Given the description of an element on the screen output the (x, y) to click on. 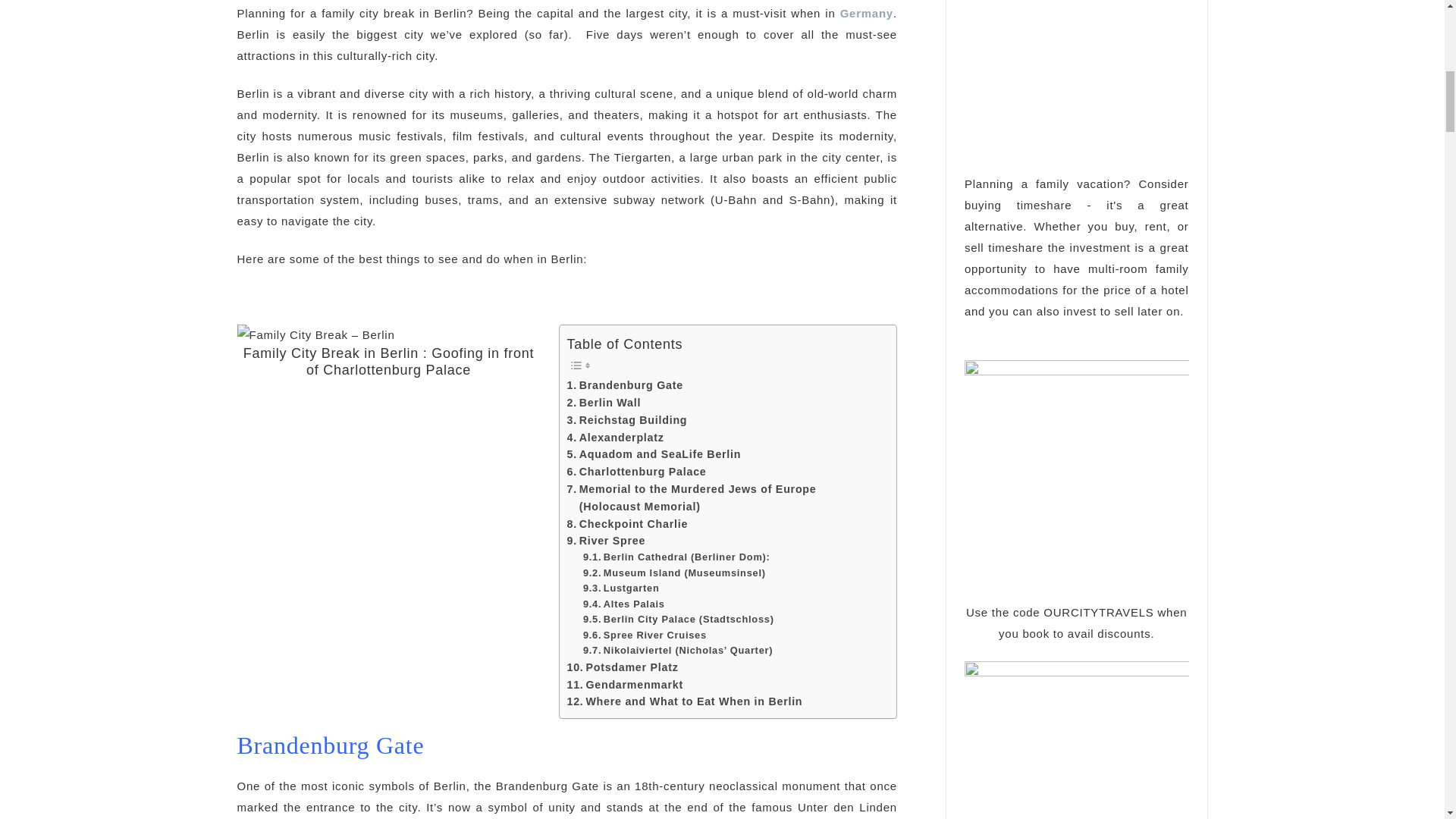
Gendarmenmarkt (624, 684)
Reichstag Building (627, 420)
Charlottenburg Palace (636, 471)
Altes Palais (624, 604)
Berlin Wall (604, 402)
Where and What to Eat When in Berlin (685, 701)
Lustgarten (621, 588)
Germany (866, 12)
Aquadom and SeaLife Berlin (654, 454)
Checkpoint Charlie (627, 524)
Reichstag Building (627, 420)
River Spree (606, 540)
Brandenburg Gate (624, 384)
Brandenburg Gate (624, 384)
Aquadom and SeaLife Berlin (654, 454)
